Given the description of an element on the screen output the (x, y) to click on. 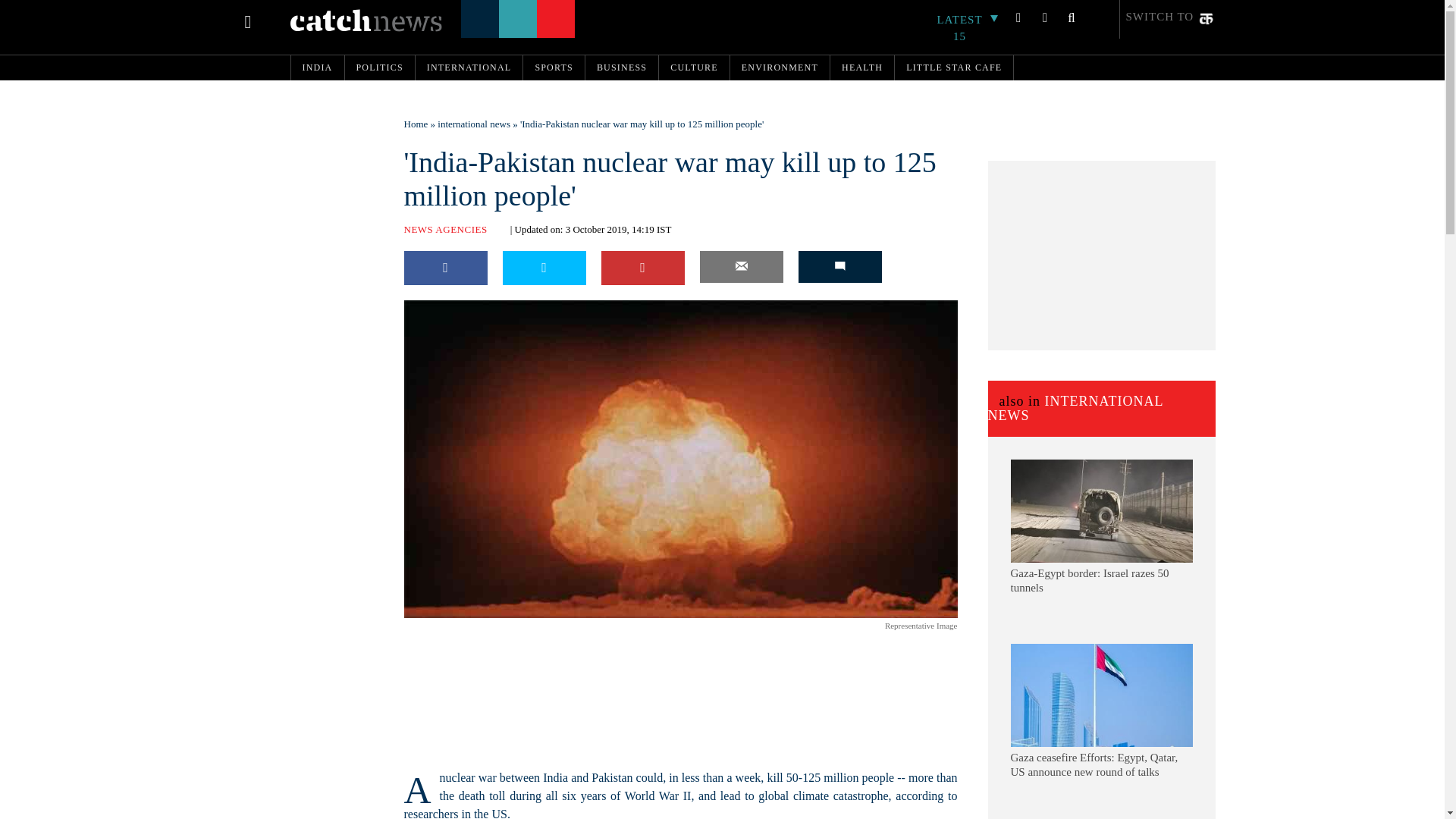
Catch News (365, 20)
Twitter Follow Button (501, 628)
fb:like Facebook Social Plugin (422, 628)
LATEST 15 (968, 28)
